Given the description of an element on the screen output the (x, y) to click on. 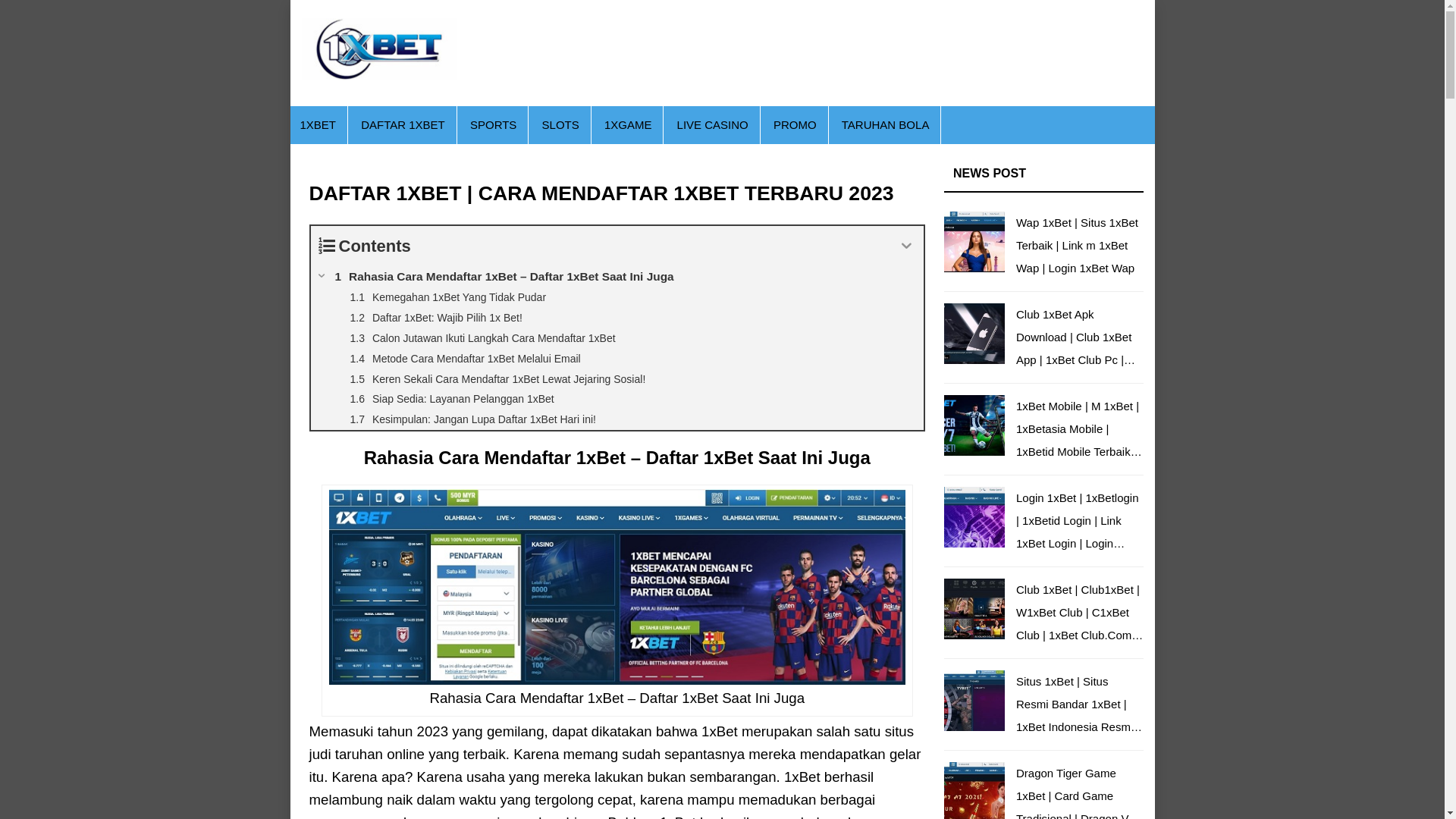
Kemegahan 1xBet Yang Tidak Pudar Element type: text (617, 297)
Metode Cara Mendaftar 1xBet Melalui Email Element type: text (617, 358)
DAFTAR 1XBET | CARA MENDAFTAR 1XBET TERBARU 2023 9 Element type: hover (617, 587)
1XBET Element type: text (318, 124)
Daftar 1xBet: Wajib Pilih 1x Bet! Element type: text (617, 317)
Siap Sedia: Layanan Pelanggan 1xBet Element type: text (617, 399)
Calon Jutawan Ikuti Langkah Cara Mendaftar 1xBet Element type: text (617, 338)
LIVE CASINO Element type: text (712, 124)
Keren Sekali Cara Mendaftar 1xBet Lewat Jejaring Sosial! Element type: text (617, 379)
1XGAME Element type: text (628, 124)
Kesimpulan: Jangan Lupa Daftar 1xBet Hari ini! Element type: text (617, 419)
PROMO Element type: text (794, 124)
TARUHAN BOLA Element type: text (885, 124)
SPORTS Element type: text (493, 124)
DAFTAR 1XBET Element type: text (402, 124)
SLOTS Element type: text (560, 124)
